Given the description of an element on the screen output the (x, y) to click on. 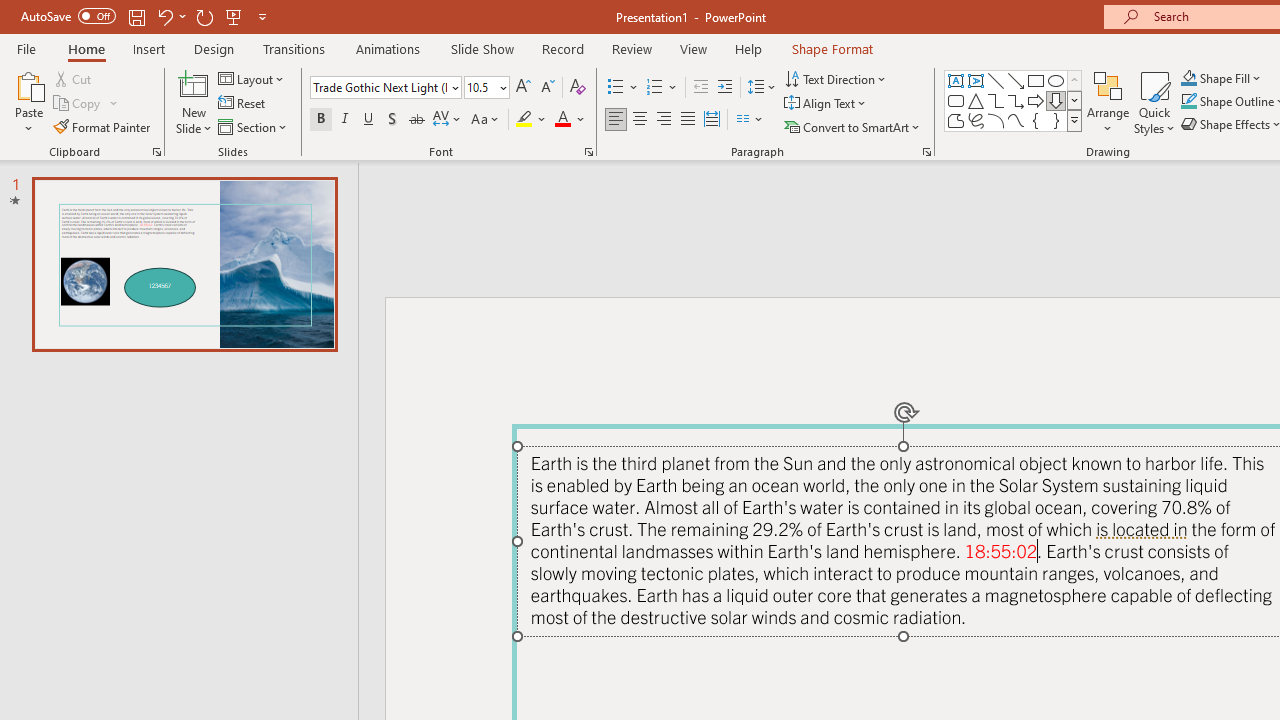
Decrease Font Size (547, 87)
Font Size (480, 87)
Copy (85, 103)
Freeform: Shape (955, 120)
Rectangle: Rounded Corners (955, 100)
Format Painter (103, 126)
Curve (1016, 120)
Paste (28, 84)
Text Highlight Color (531, 119)
Bold (320, 119)
